Given the description of an element on the screen output the (x, y) to click on. 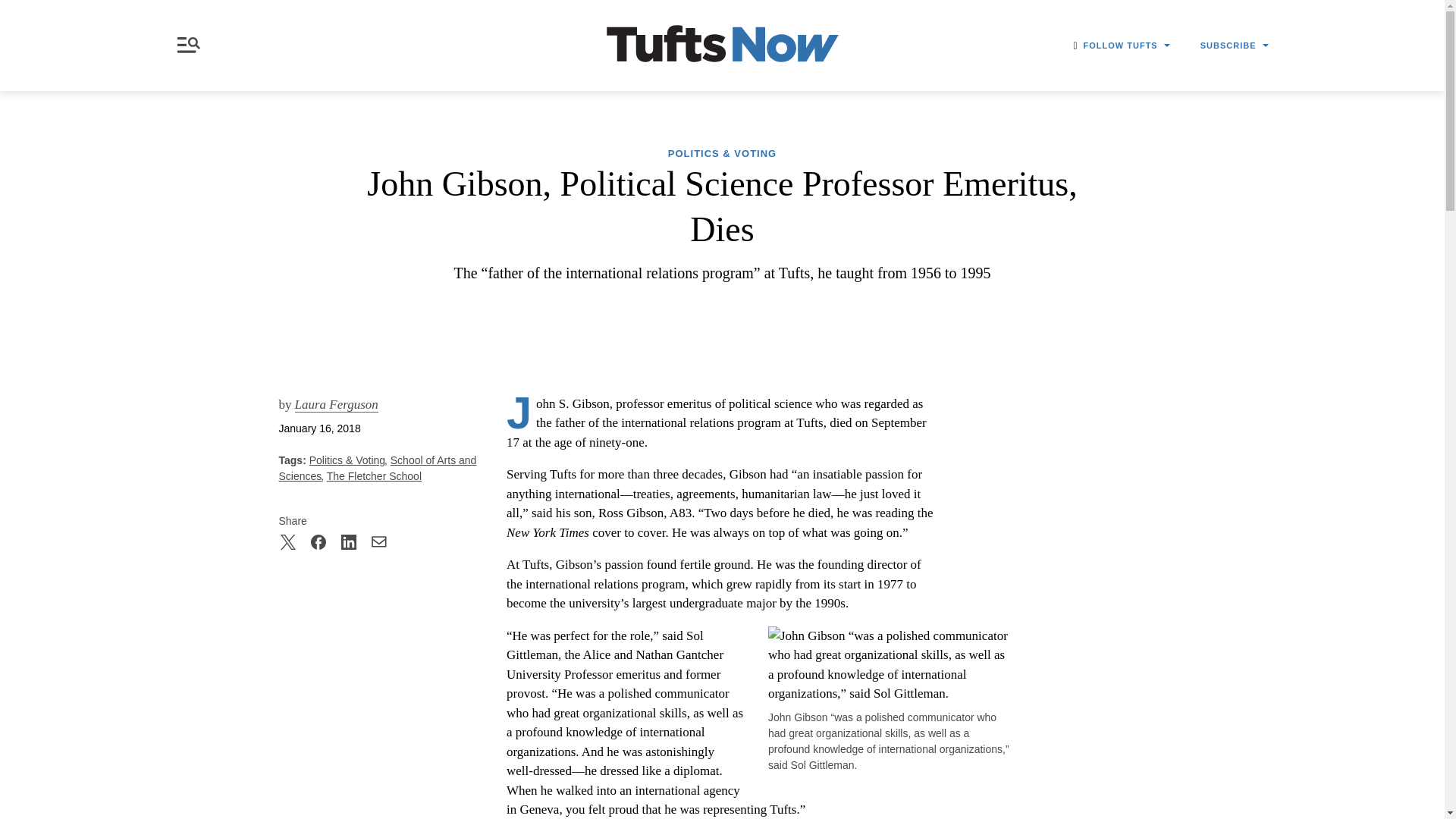
Apply (1066, 140)
SKIP TO MAIN CONTENT (13, 9)
Menu (191, 45)
SUBSCRIBE (1233, 45)
Subscribe (1103, 179)
FOLLOW TUFTS (1126, 45)
